Given the description of an element on the screen output the (x, y) to click on. 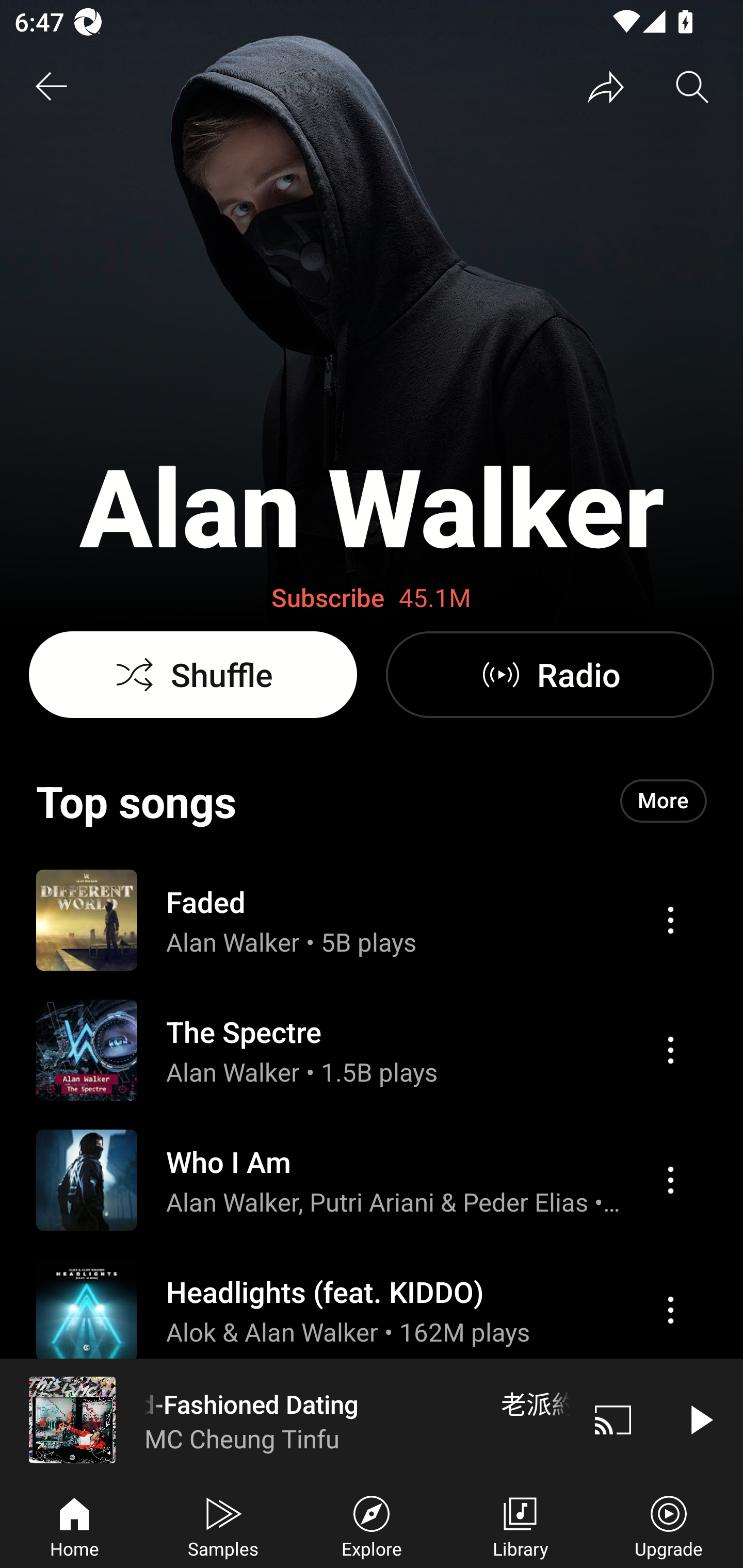
Back (50, 86)
Share (605, 86)
Search (692, 86)
Subscribe 45.1M (371, 598)
Shuffle (192, 674)
Radio (549, 674)
Action menu (371, 919)
Action menu (670, 920)
Action menu (371, 1049)
Action menu (670, 1050)
Action menu (371, 1179)
Action menu (670, 1179)
Action menu (371, 1309)
Action menu (670, 1310)
Action menu (371, 1428)
Cast. Disconnected (612, 1419)
Play video (699, 1419)
Home (74, 1524)
Samples (222, 1524)
Explore (371, 1524)
Library (519, 1524)
Upgrade (668, 1524)
